Given the description of an element on the screen output the (x, y) to click on. 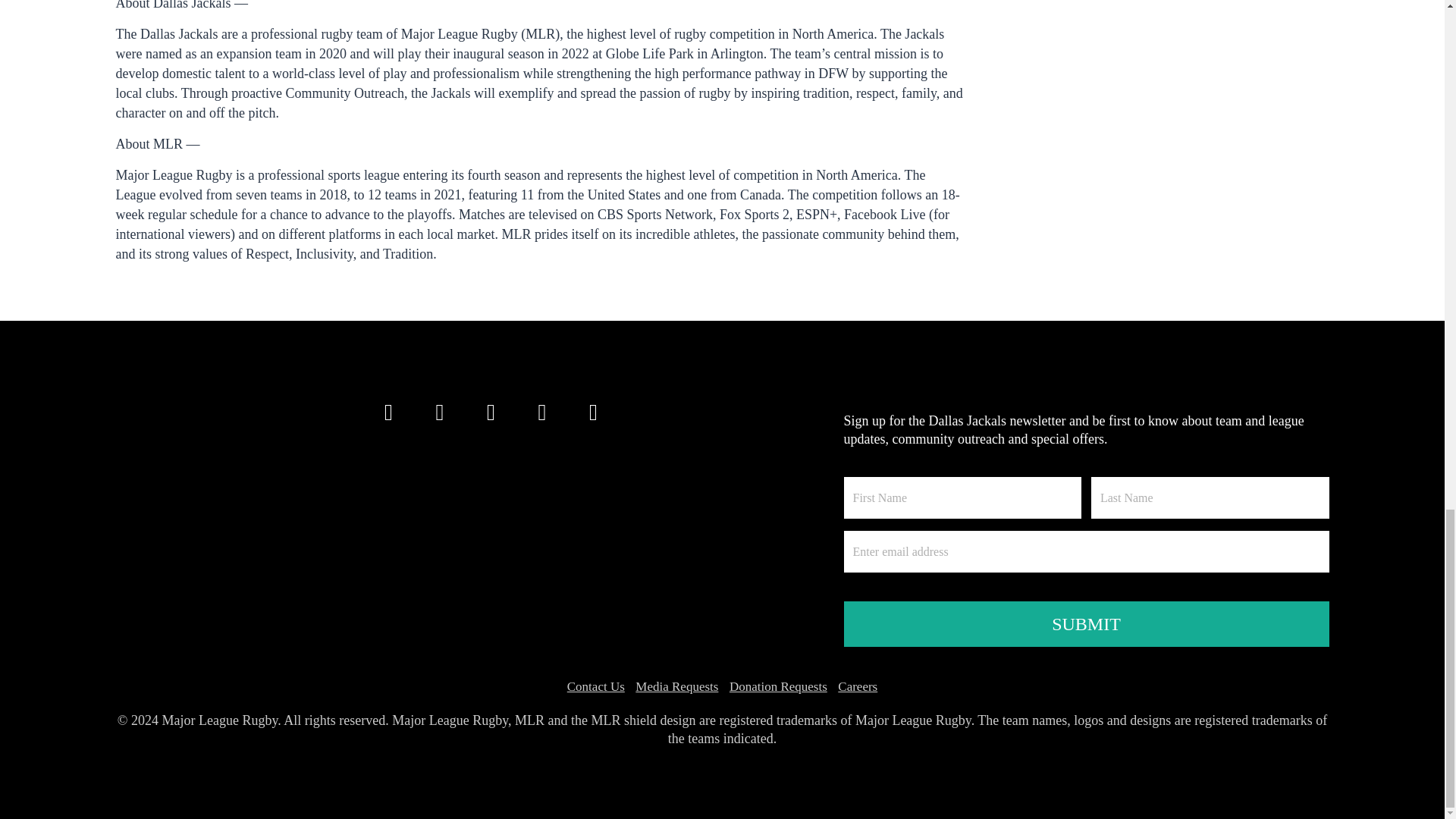
Submit (1085, 624)
